Given the description of an element on the screen output the (x, y) to click on. 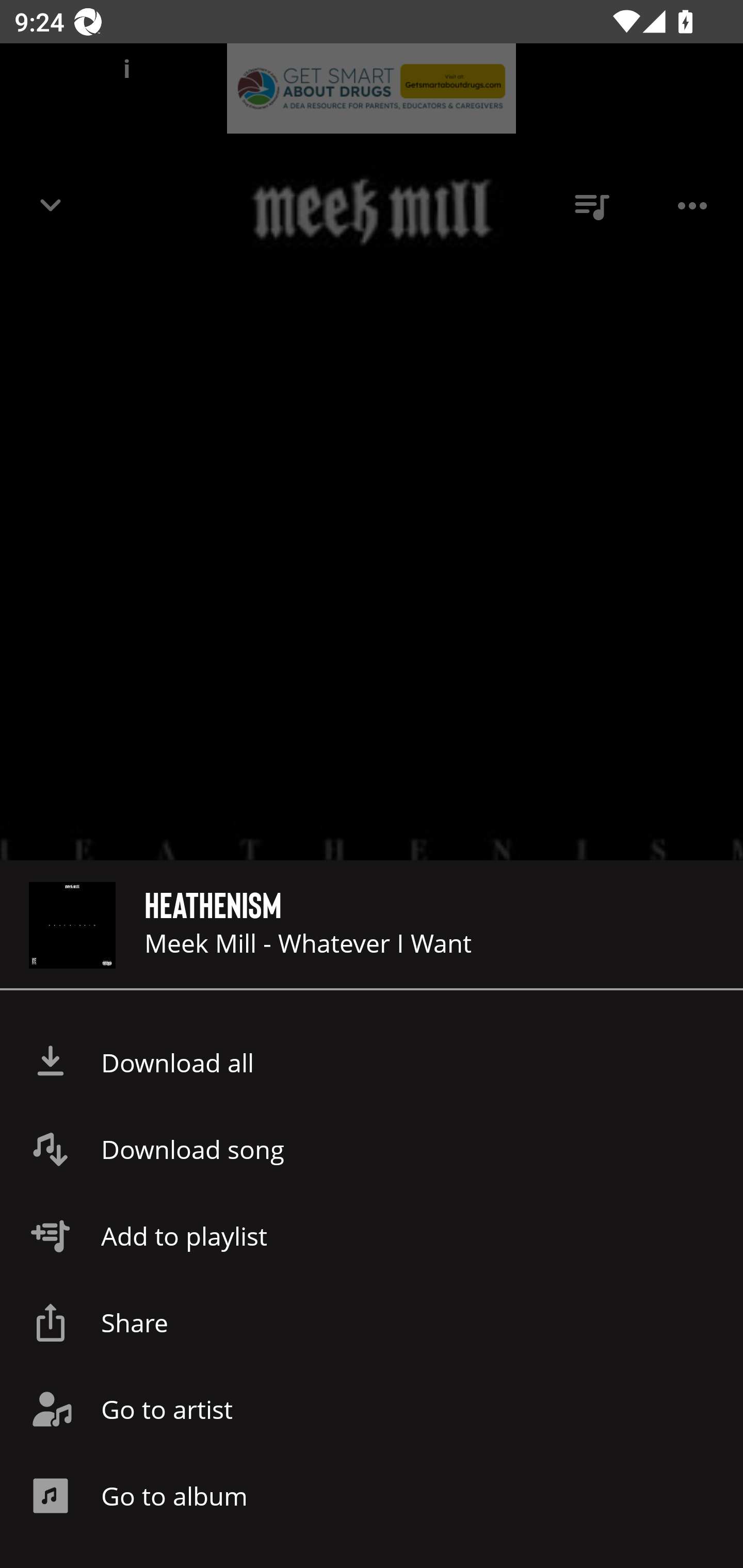
Download all (371, 1062)
Download song (371, 1149)
Add to playlist (371, 1236)
Share (371, 1322)
Go to artist (371, 1408)
Go to album (371, 1495)
